Given the description of an element on the screen output the (x, y) to click on. 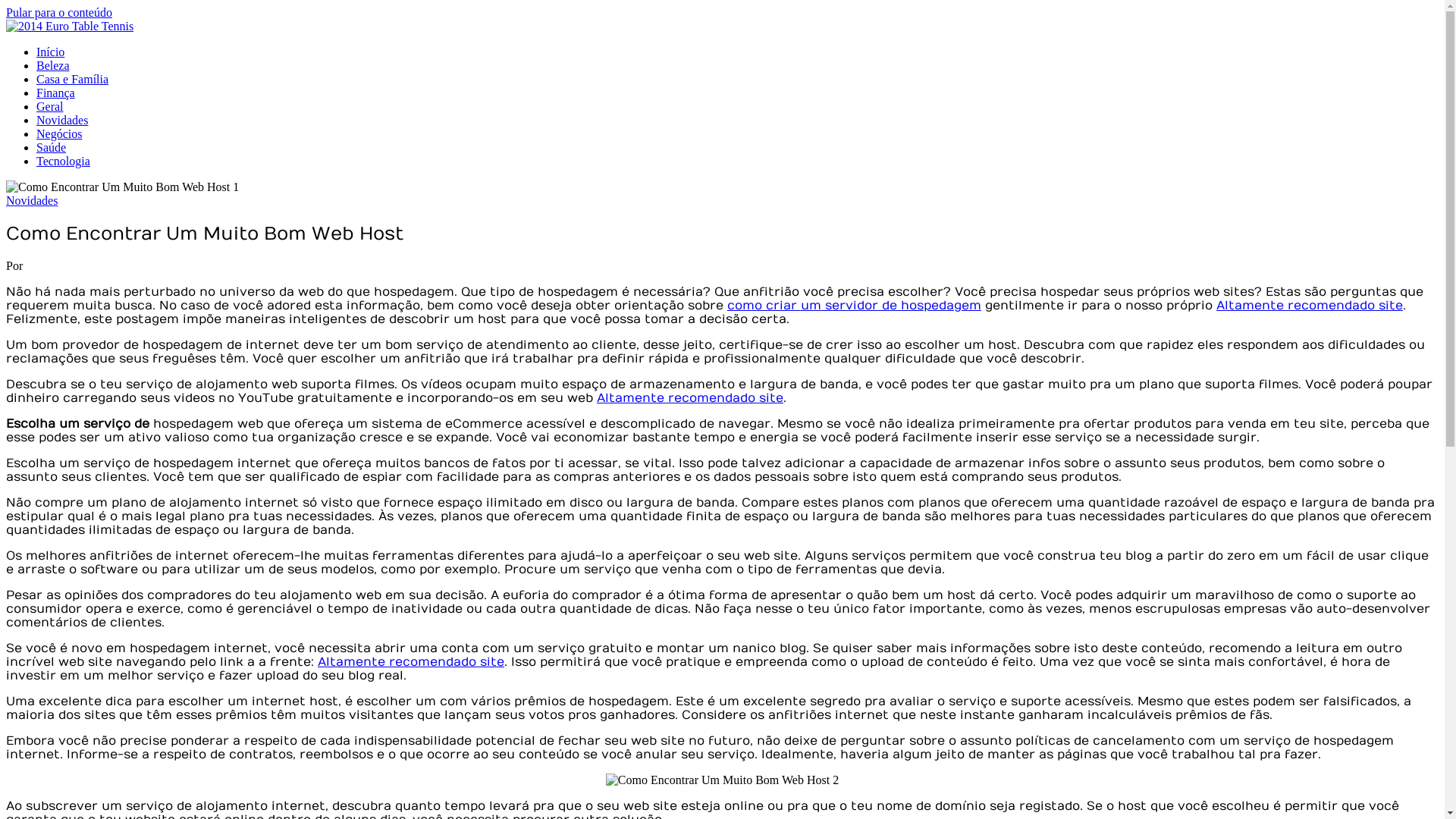
Altamente recomendado site Element type: text (689, 397)
como criar um servidor de hospedagem Element type: text (854, 305)
Beleza Element type: text (52, 65)
Tecnologia Element type: text (63, 160)
Novidades Element type: text (31, 200)
Novidades Element type: text (61, 119)
Geral Element type: text (49, 106)
Altamente recomendado site Element type: text (1309, 305)
Altamente recomendado site Element type: text (410, 661)
2014 Euro Table Tennis Element type: text (78, 52)
